Given the description of an element on the screen output the (x, y) to click on. 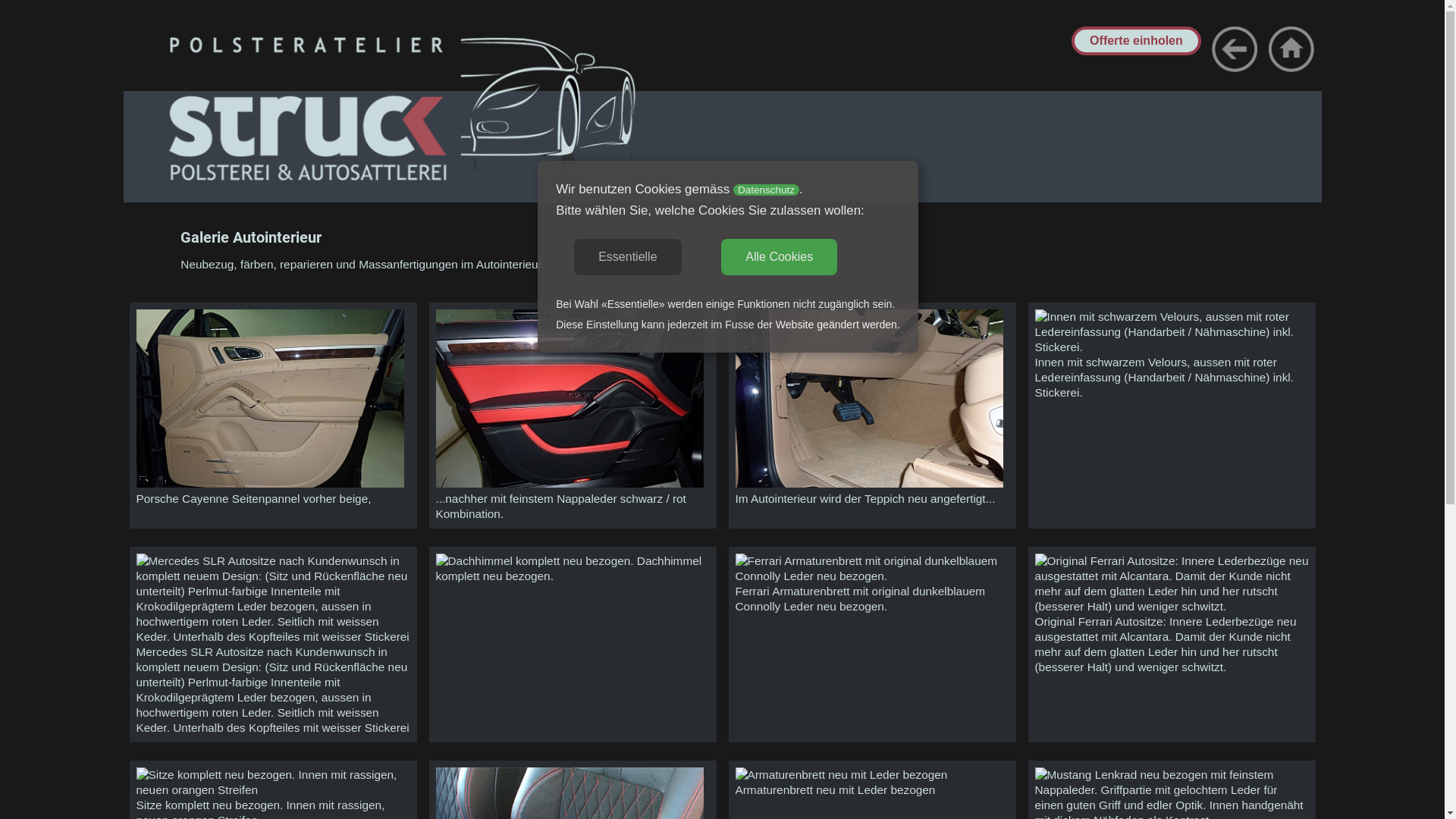
Im Autointerieur wird der Teppich neu angefertigt... Element type: hover (869, 482)
Porsche Cayenne Seitenpannel vorher beige, ... Element type: hover (270, 482)
Gehe zur Startseite Element type: hover (1290, 49)
Dachhimmel komplett neu bezogen. Element type: hover (534, 560)
Porsche Cayenne Seitenpannel vorher beige, Element type: hover (270, 398)
Armaturenbrett neu mit Leder bezogen. Element type: hover (841, 774)
Armaturenbrett neu mit Leder bezogen Element type: hover (841, 774)
Essentielle Element type: text (627, 256)
Datenschutz Element type: text (766, 189)
Offerte einholen Element type: text (1136, 40)
Alle Cookies Element type: text (779, 256)
Dachhimmel komplett neu bezogen. Element type: hover (534, 560)
Im Autointerieur wird der Teppich neu angefertigt... Element type: hover (869, 398)
